Given the description of an element on the screen output the (x, y) to click on. 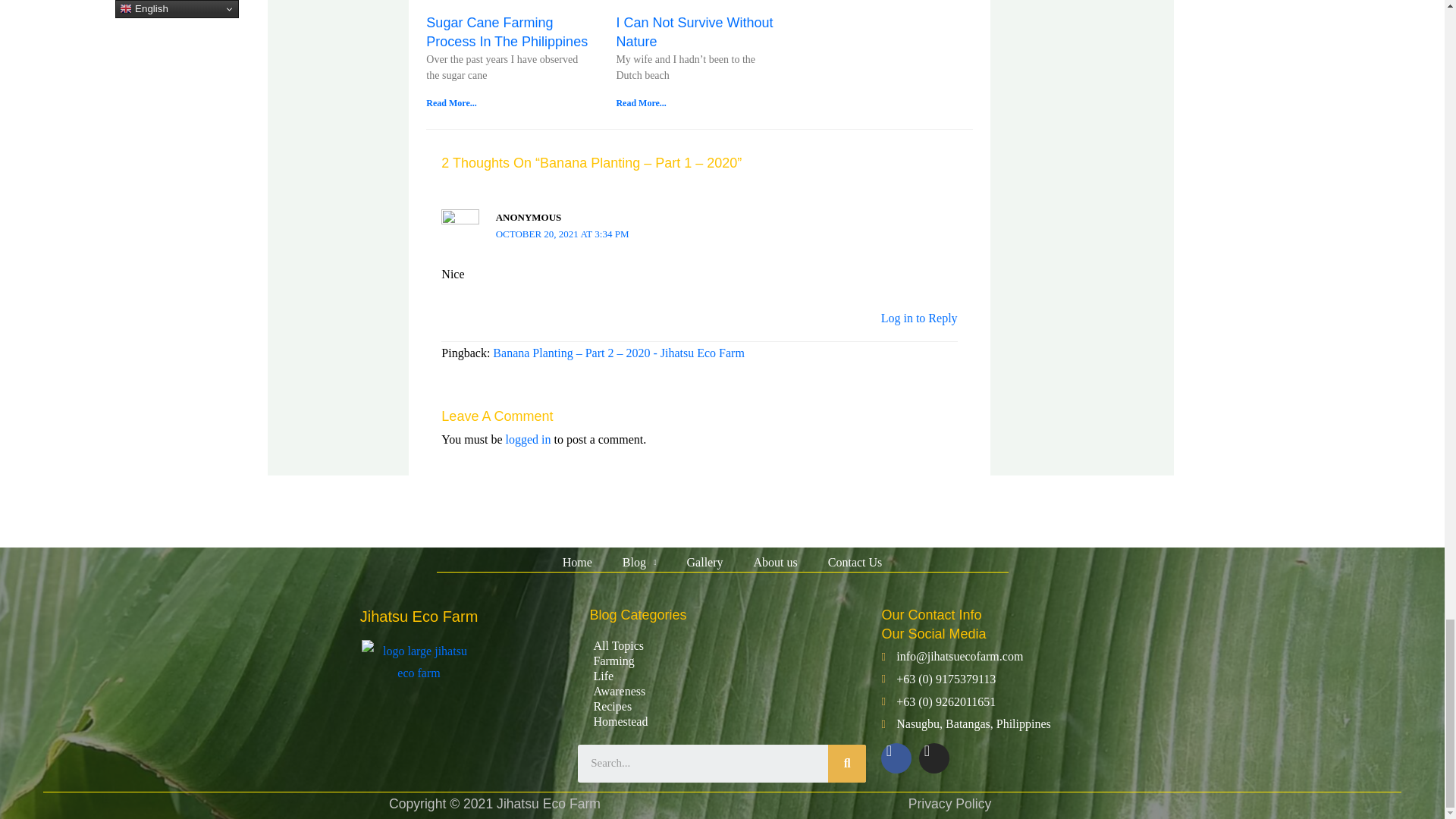
Search (703, 763)
Sugar Cane Farming Process In The Philippines (507, 32)
Log in to Reply (919, 318)
Read More... (451, 102)
Search (847, 763)
I Can Not Survive Without Nature (694, 32)
logged in (528, 439)
OCTOBER 20, 2021 AT 3:34 PM (562, 233)
Read More... (640, 102)
